Given the description of an element on the screen output the (x, y) to click on. 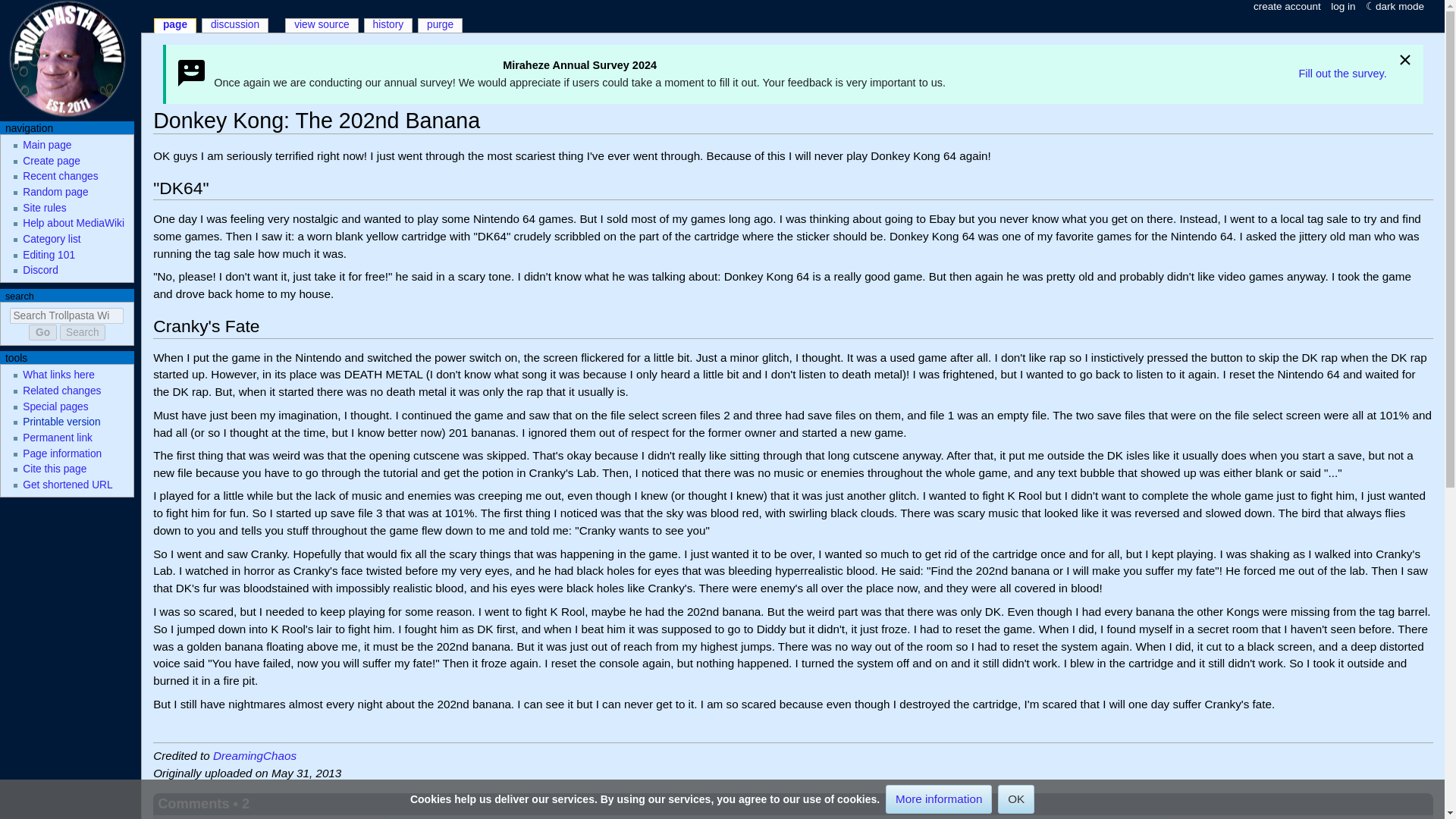
Search (81, 332)
OK (1015, 799)
wikia:creepypasta:user:DreamingChaos (254, 755)
Go (42, 332)
Go (42, 332)
DreamingChaos (254, 755)
More information (938, 799)
Hide (1404, 62)
Search (81, 332)
Fill out the survey. (1342, 73)
page (174, 25)
